Given the description of an element on the screen output the (x, y) to click on. 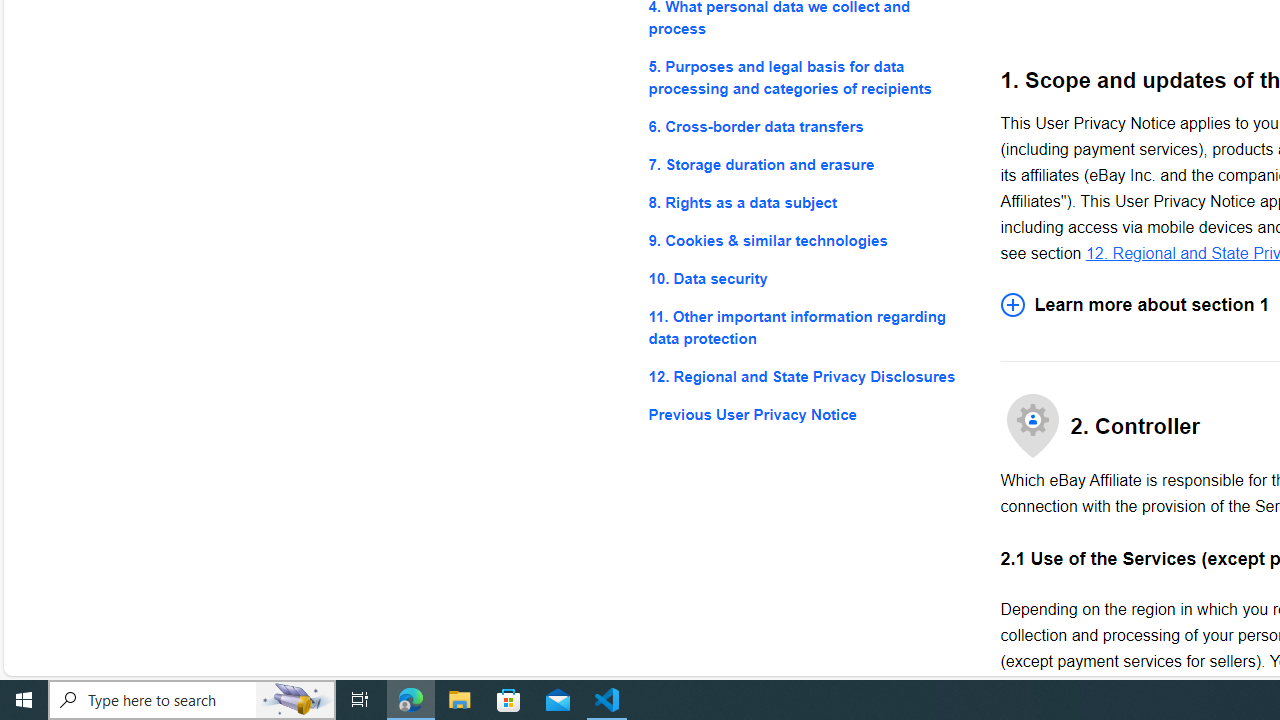
Previous User Privacy Notice (807, 414)
6. Cross-border data transfers (807, 126)
11. Other important information regarding data protection (807, 328)
7. Storage duration and erasure (807, 164)
8. Rights as a data subject (807, 203)
7. Storage duration and erasure (807, 164)
9. Cookies & similar technologies (807, 240)
Previous User Privacy Notice (807, 414)
10. Data security (807, 278)
6. Cross-border data transfers (807, 126)
9. Cookies & similar technologies (807, 240)
10. Data security (807, 278)
11. Other important information regarding data protection (807, 328)
